Given the description of an element on the screen output the (x, y) to click on. 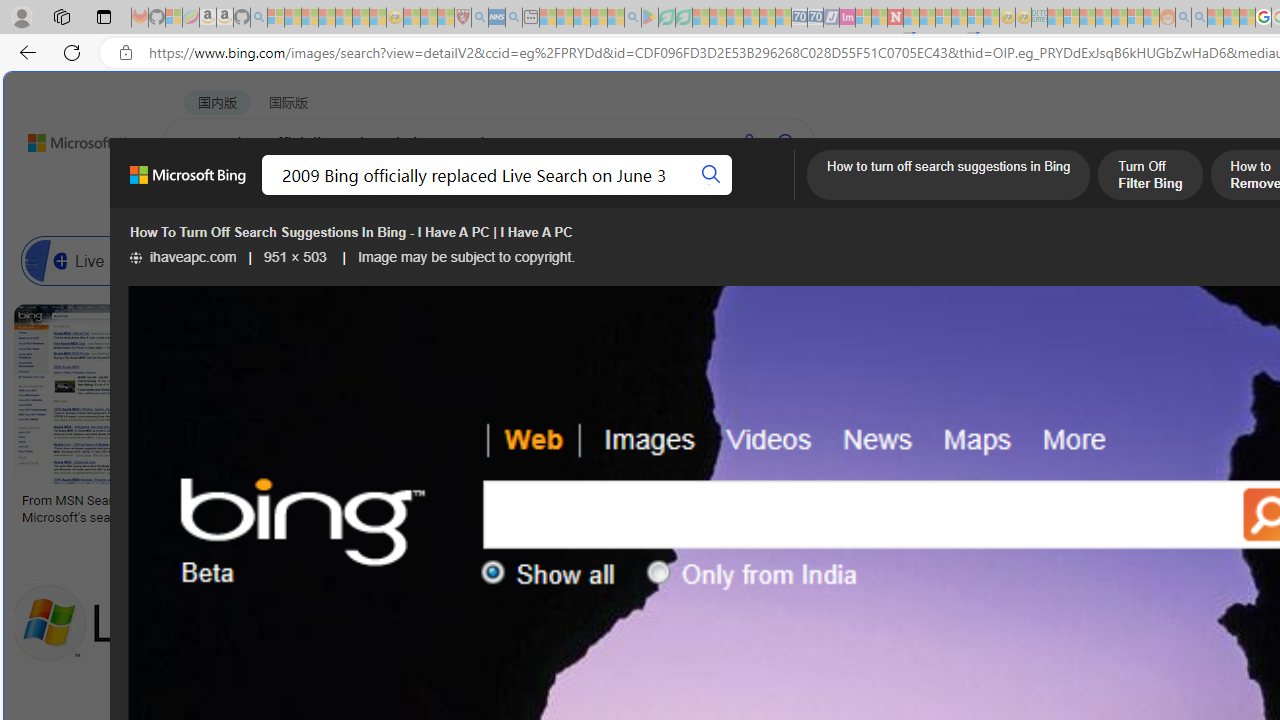
Bing Logo and symbol, meaning, history, PNG, brand (418, 508)
Expert Portfolios - Sleeping (1103, 17)
Turn Off Filter Bing (1150, 177)
Dropdown Menu (793, 195)
Bing Voice Search (213, 260)
Image may be subject to copyright. (467, 257)
